Given the description of an element on the screen output the (x, y) to click on. 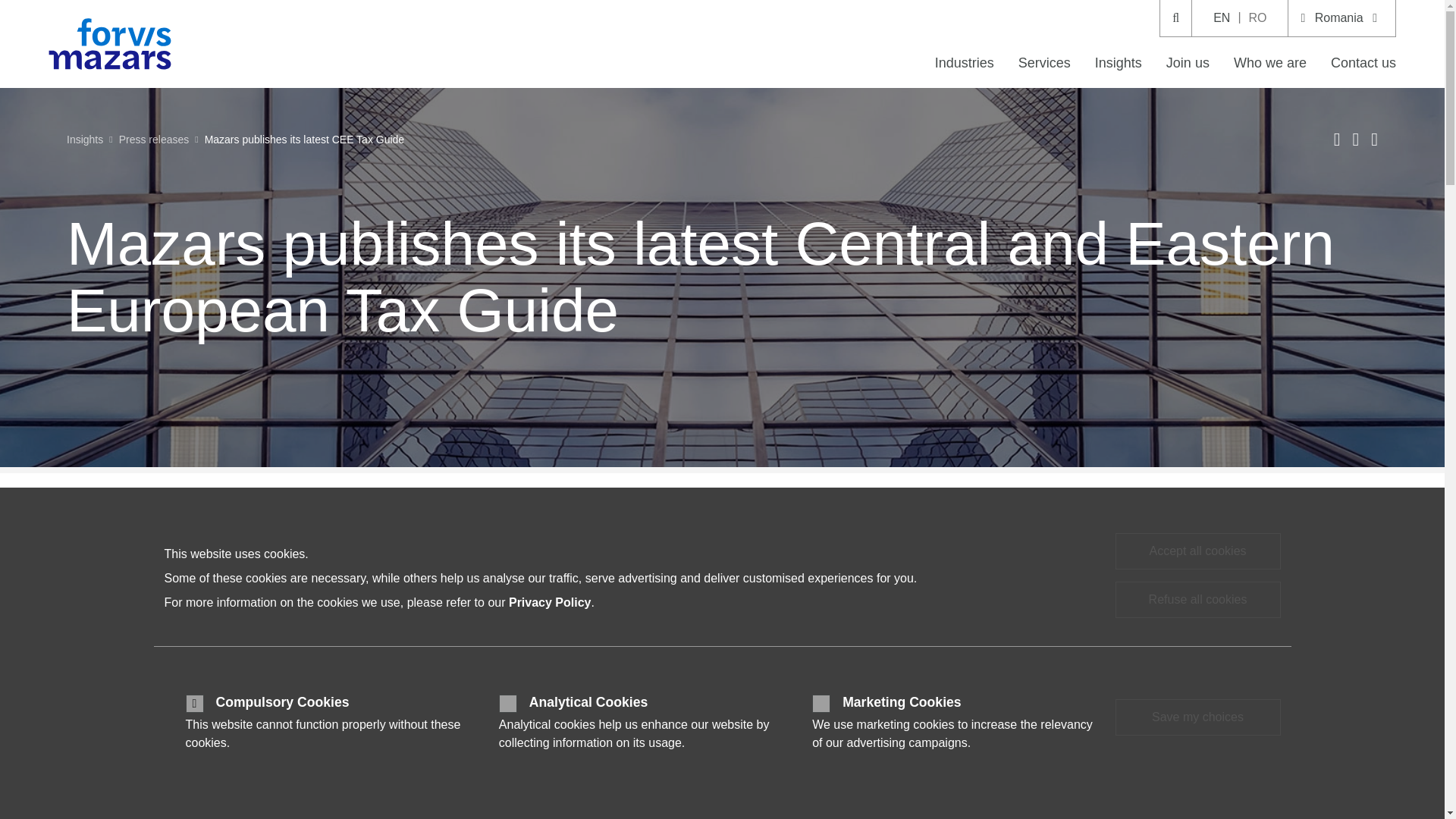
Romania (1341, 18)
RO (1257, 17)
